Given the description of an element on the screen output the (x, y) to click on. 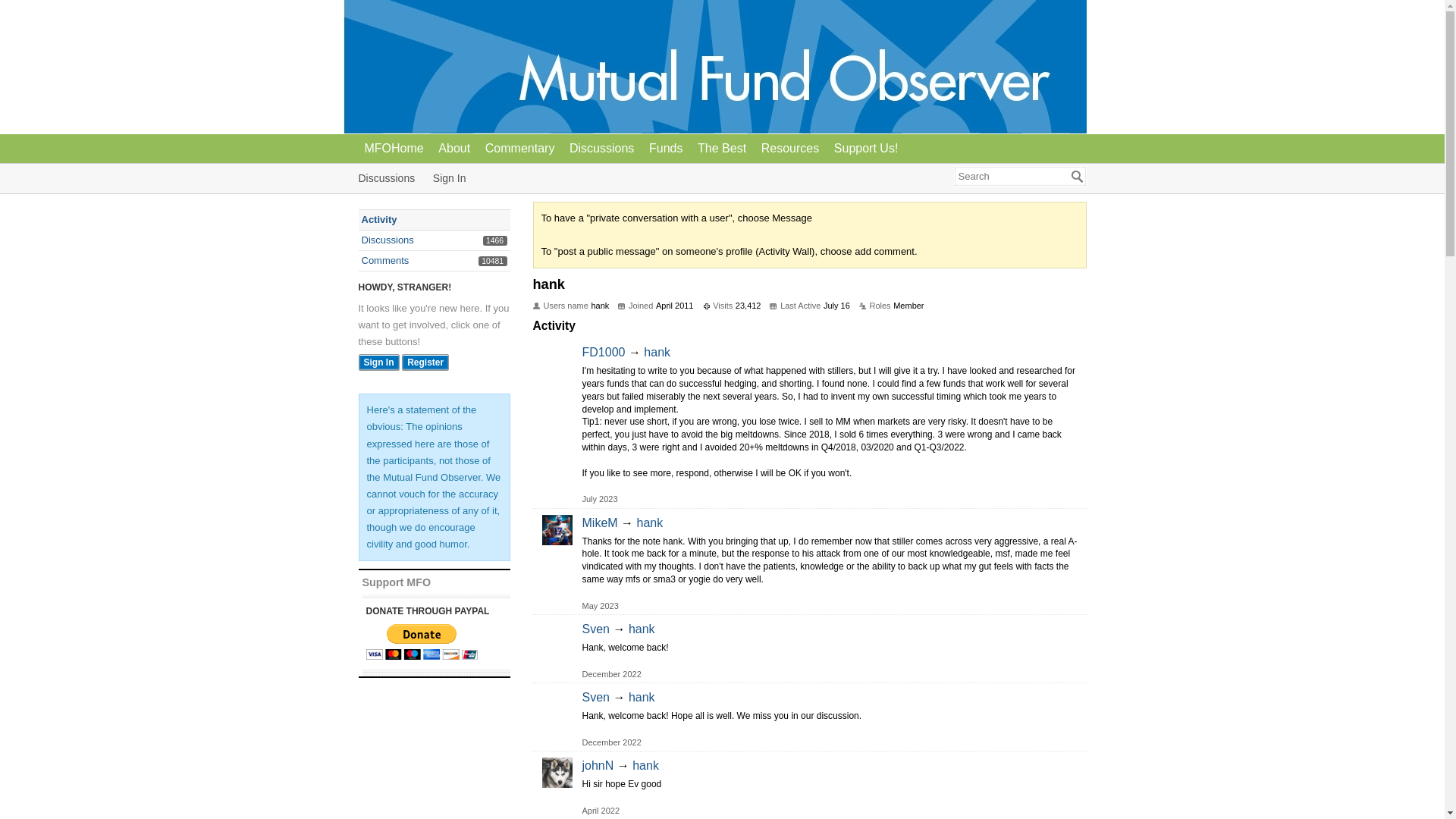
Discussions (387, 239)
Sven (386, 177)
hank (596, 628)
Commentary (656, 351)
johnN (519, 147)
About (598, 765)
hank (454, 147)
Discussions (650, 521)
MikeM (601, 147)
Go (556, 529)
MFOHome (1076, 176)
FD1000 (393, 147)
April  2, 2011  9:06AM (385, 260)
